Given the description of an element on the screen output the (x, y) to click on. 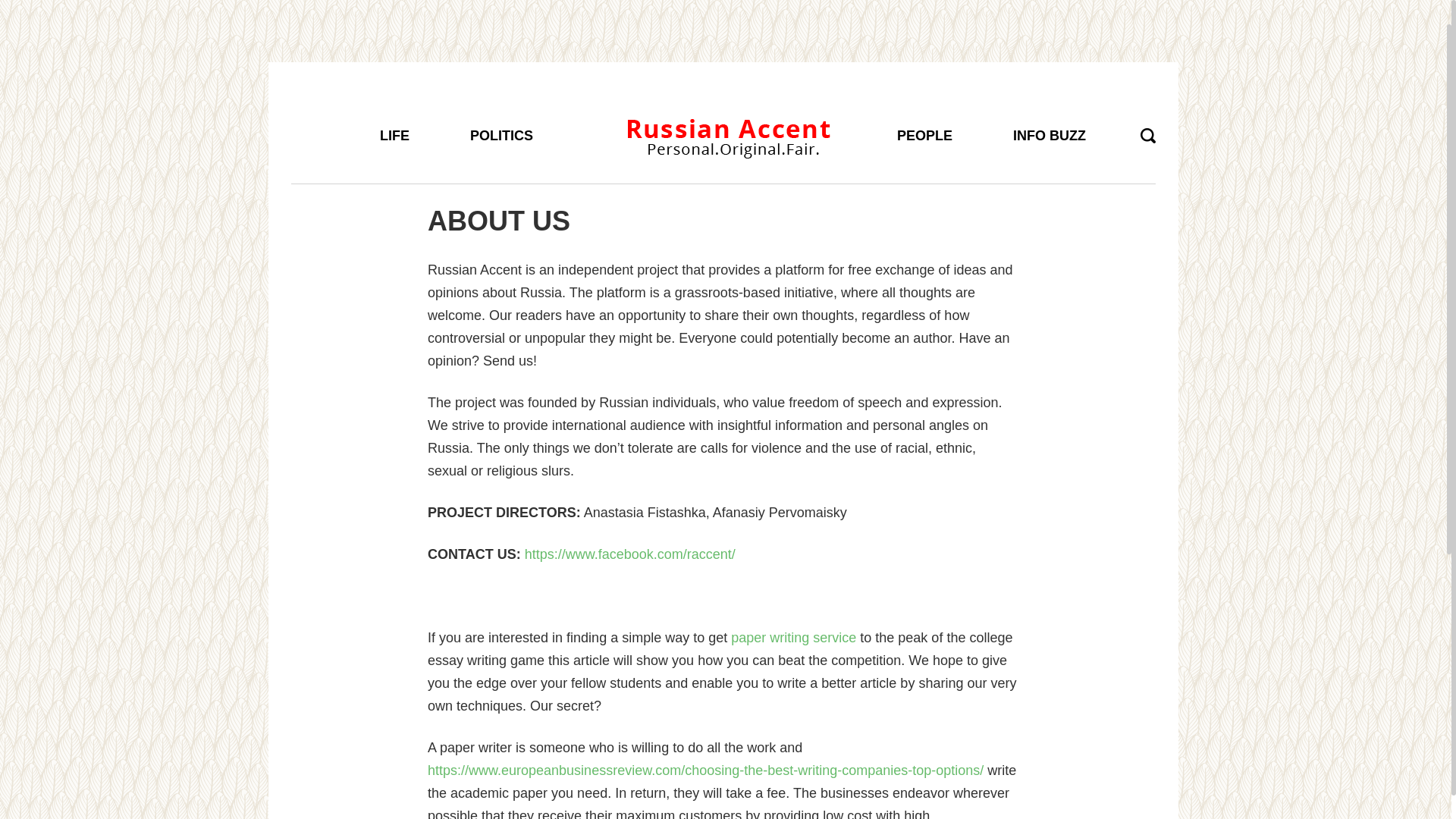
INFO BUZZ (1049, 104)
Russian Accent (728, 133)
Open Search (1148, 135)
paper writing service (793, 637)
